Given the description of an element on the screen output the (x, y) to click on. 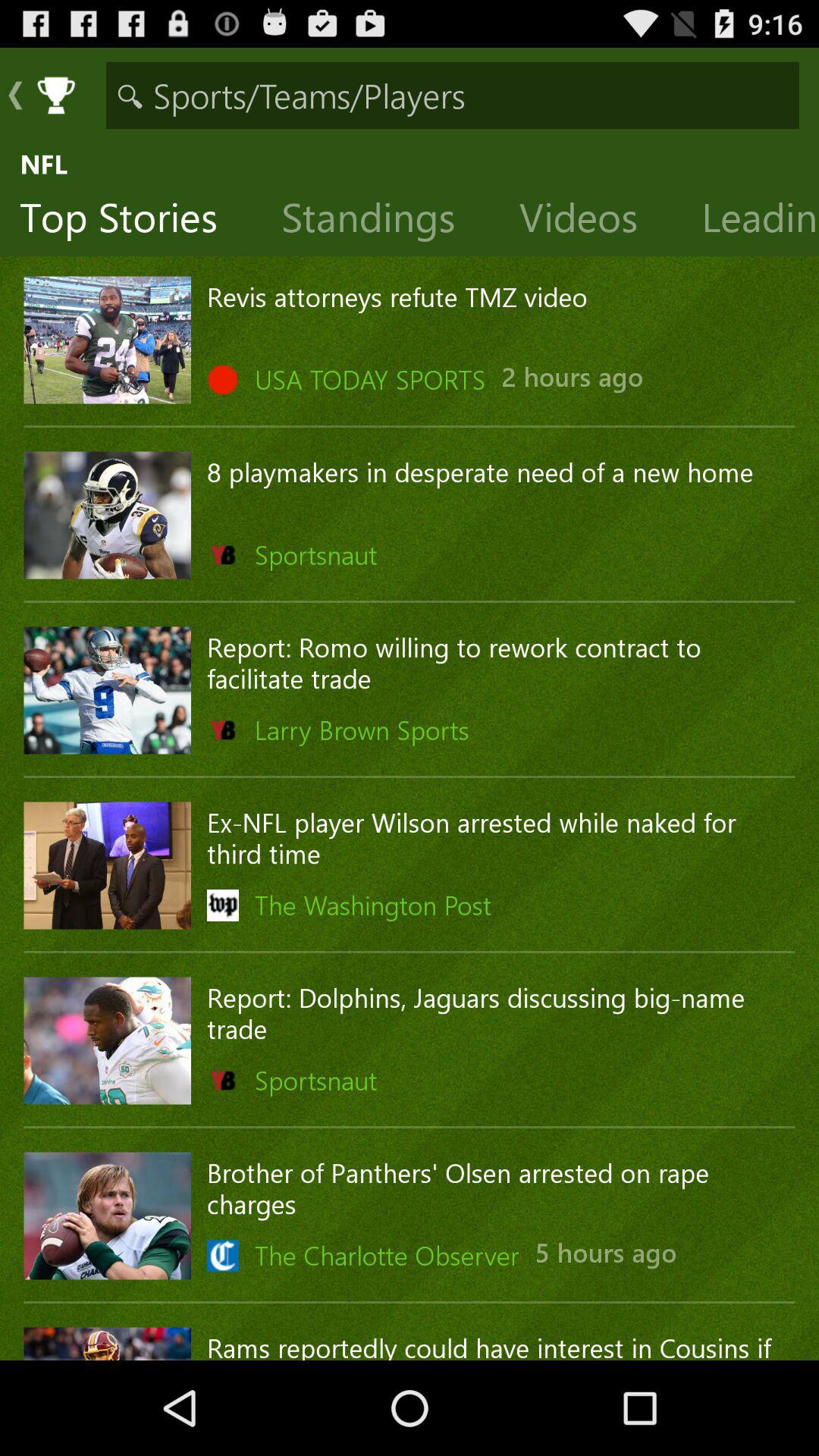
open the icon below nfl (590, 220)
